Given the description of an element on the screen output the (x, y) to click on. 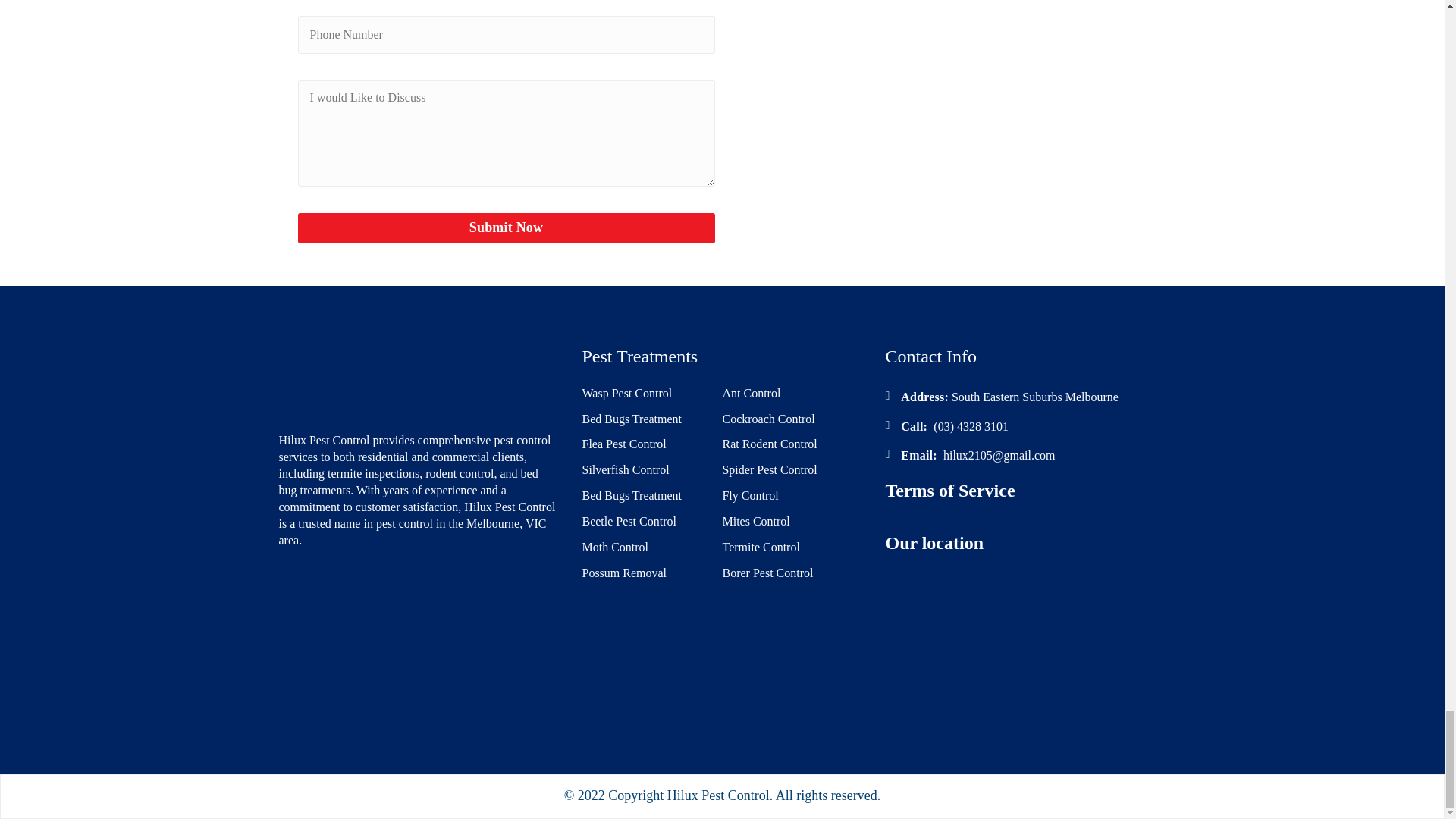
footerMap (1025, 637)
Submit Now (505, 227)
contactMap (938, 86)
Submit Now (505, 227)
Cockroach Control (767, 419)
Ant Control (751, 393)
Bed Bugs Treatment (630, 419)
Wasp Pest Control (625, 393)
